Given the description of an element on the screen output the (x, y) to click on. 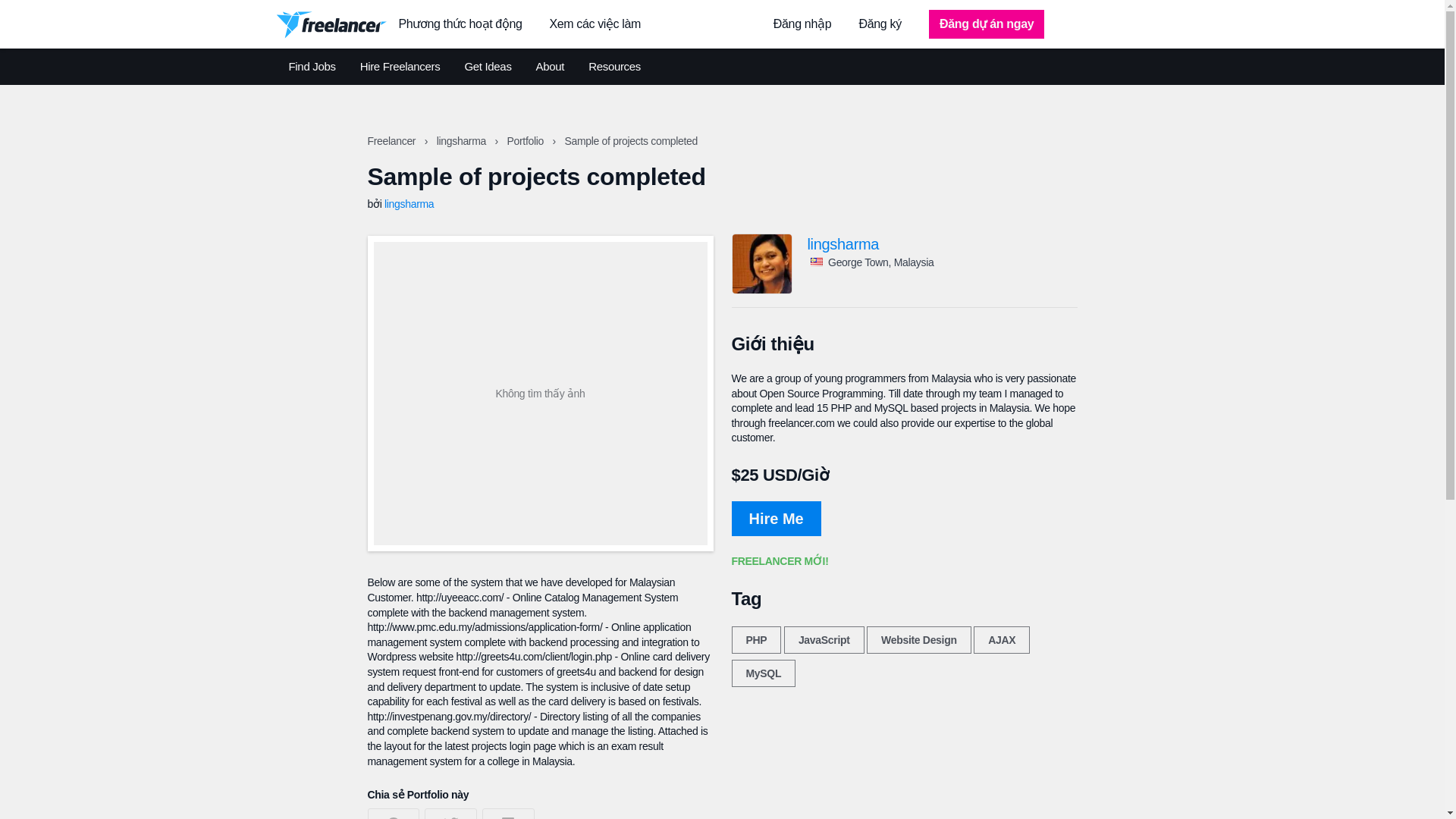
AJAX (1001, 639)
MySQL (762, 673)
lingsharma (941, 243)
Freelancer (391, 141)
Hire Freelancers (400, 66)
Get Ideas (487, 66)
Hire Me (775, 518)
JavaScript (824, 639)
Find Jobs (311, 66)
Resources (614, 66)
Website Design (918, 639)
lingsharma (408, 203)
Flag of Malaysia (815, 261)
Portfolio (526, 141)
PHP (755, 639)
